Given the description of an element on the screen output the (x, y) to click on. 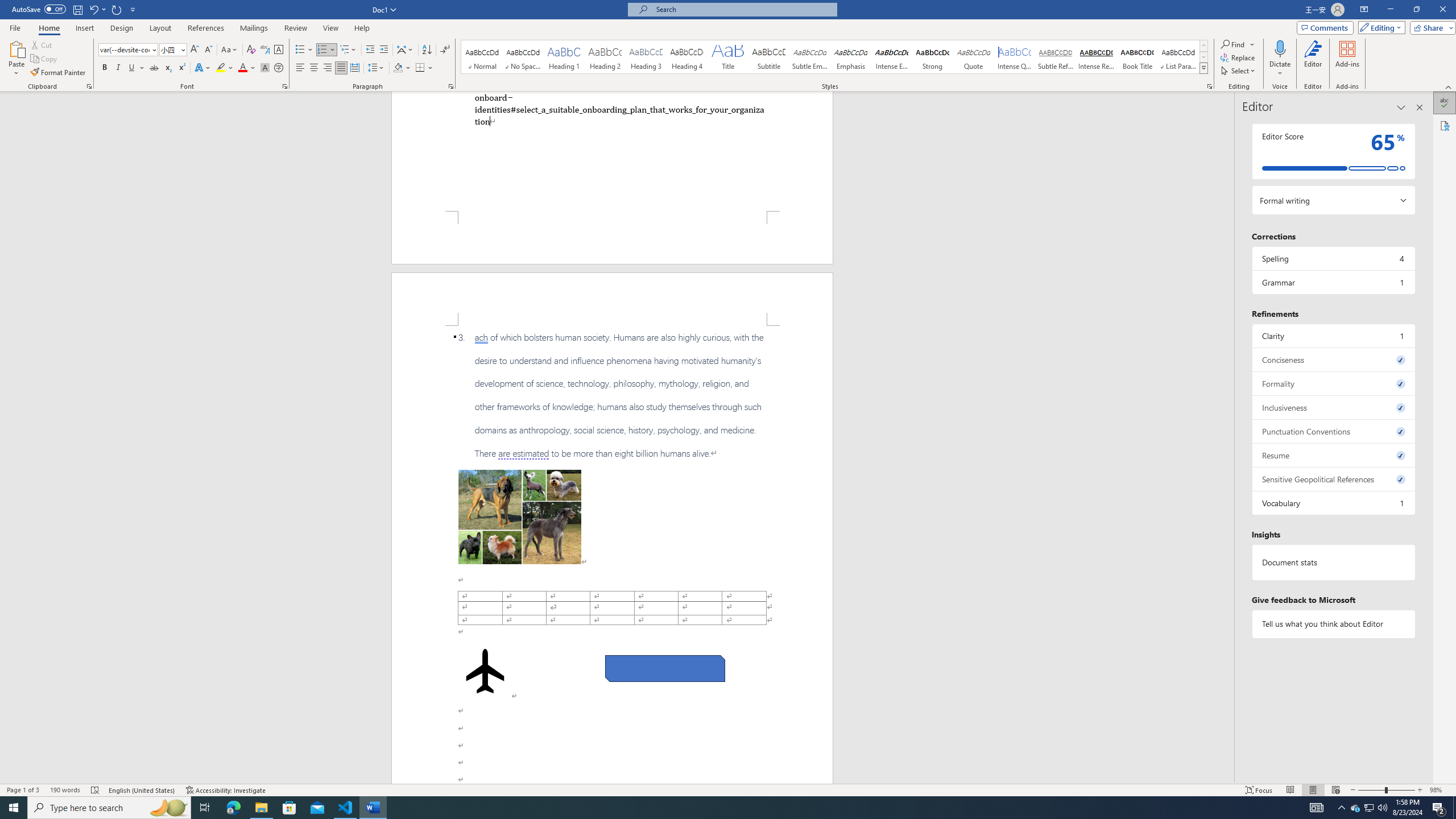
Resume, 0 issues. Press space or enter to review items. (1333, 454)
Morphological variation in six dogs (519, 517)
Document statistics (1333, 561)
Page 2 content (611, 554)
